Given the description of an element on the screen output the (x, y) to click on. 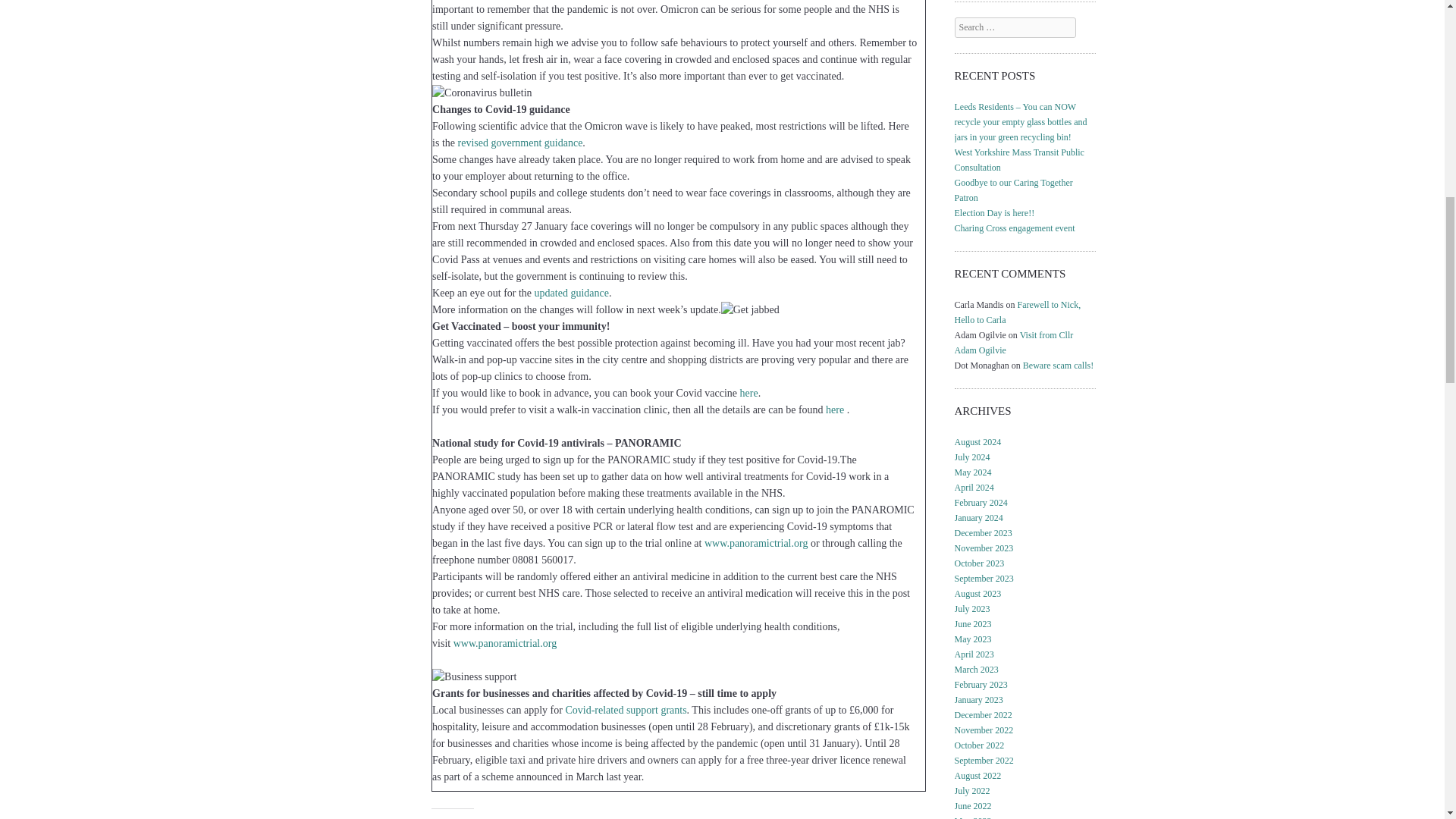
here (748, 392)
updated guidance (571, 292)
www.panoramictrial.org (756, 542)
revised government guidance (520, 142)
www.panoramictrial.org (504, 643)
here (834, 409)
Covid-related support grants (624, 709)
